Given the description of an element on the screen output the (x, y) to click on. 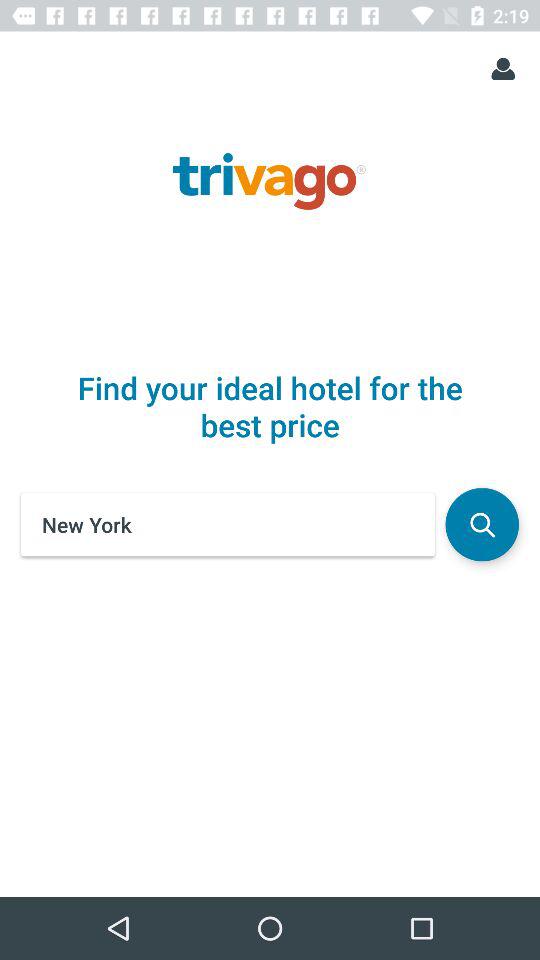
turn off the item on the right (482, 524)
